Given the description of an element on the screen output the (x, y) to click on. 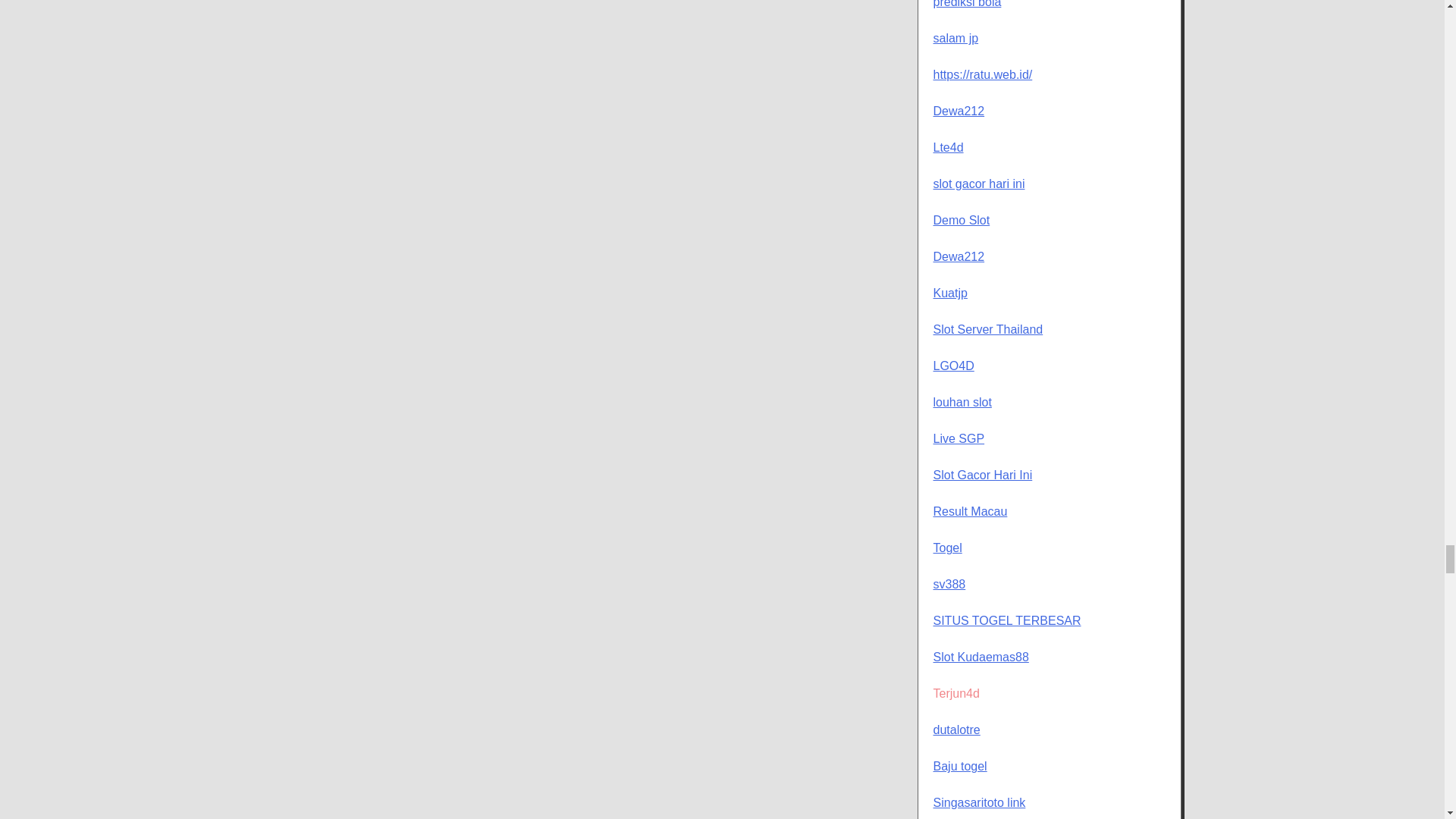
prediksi bola (967, 4)
